Given the description of an element on the screen output the (x, y) to click on. 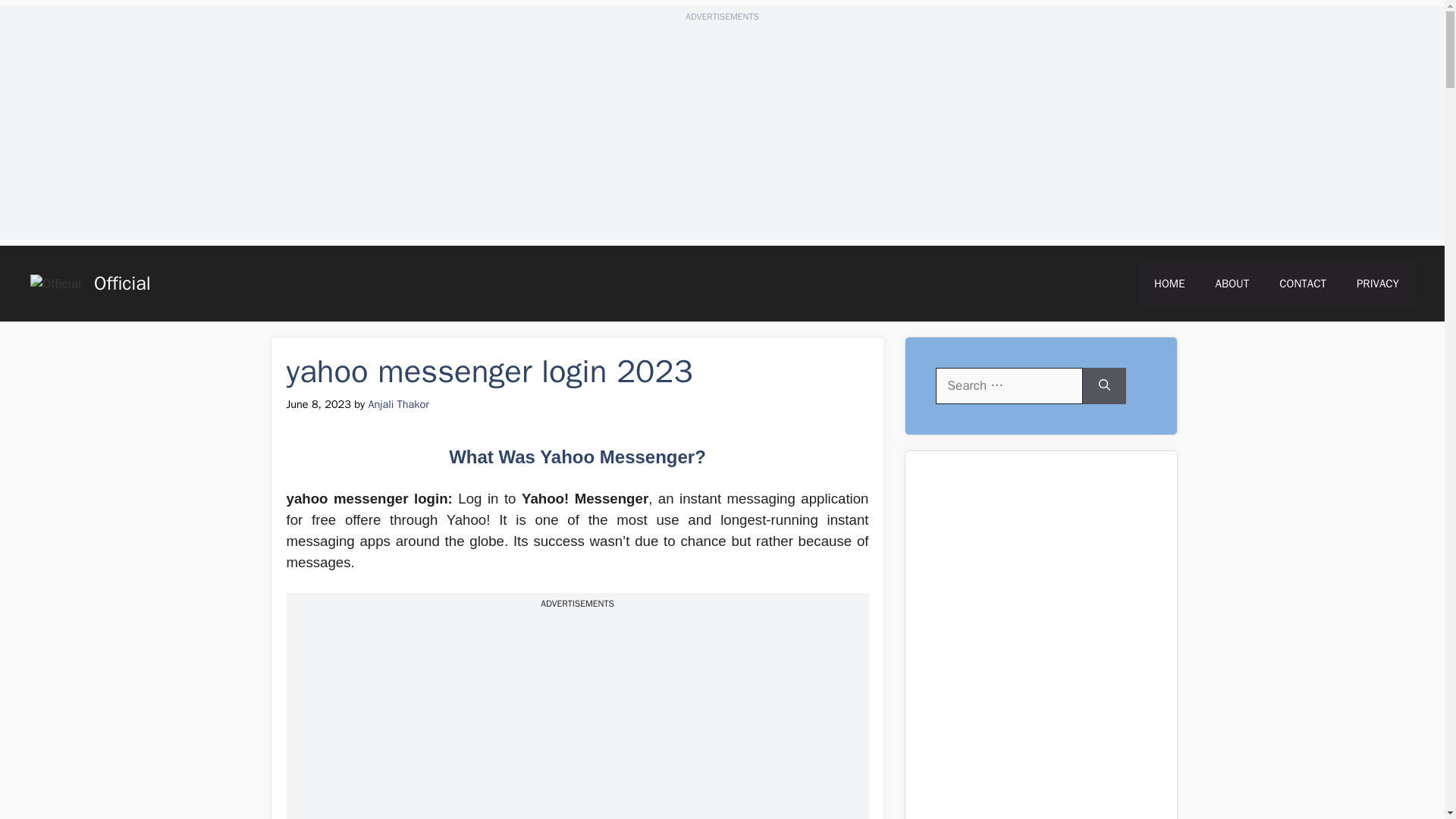
Official (122, 282)
ADVERTISEMENTS (721, 16)
ABOUT (1232, 283)
View all posts by Anjali Thakor (398, 404)
ADVERTISEMENTS (577, 603)
PRIVACY (1376, 283)
Anjali Thakor (398, 404)
Search for: (1009, 385)
HOME (1168, 283)
CONTACT (1301, 283)
